Given the description of an element on the screen output the (x, y) to click on. 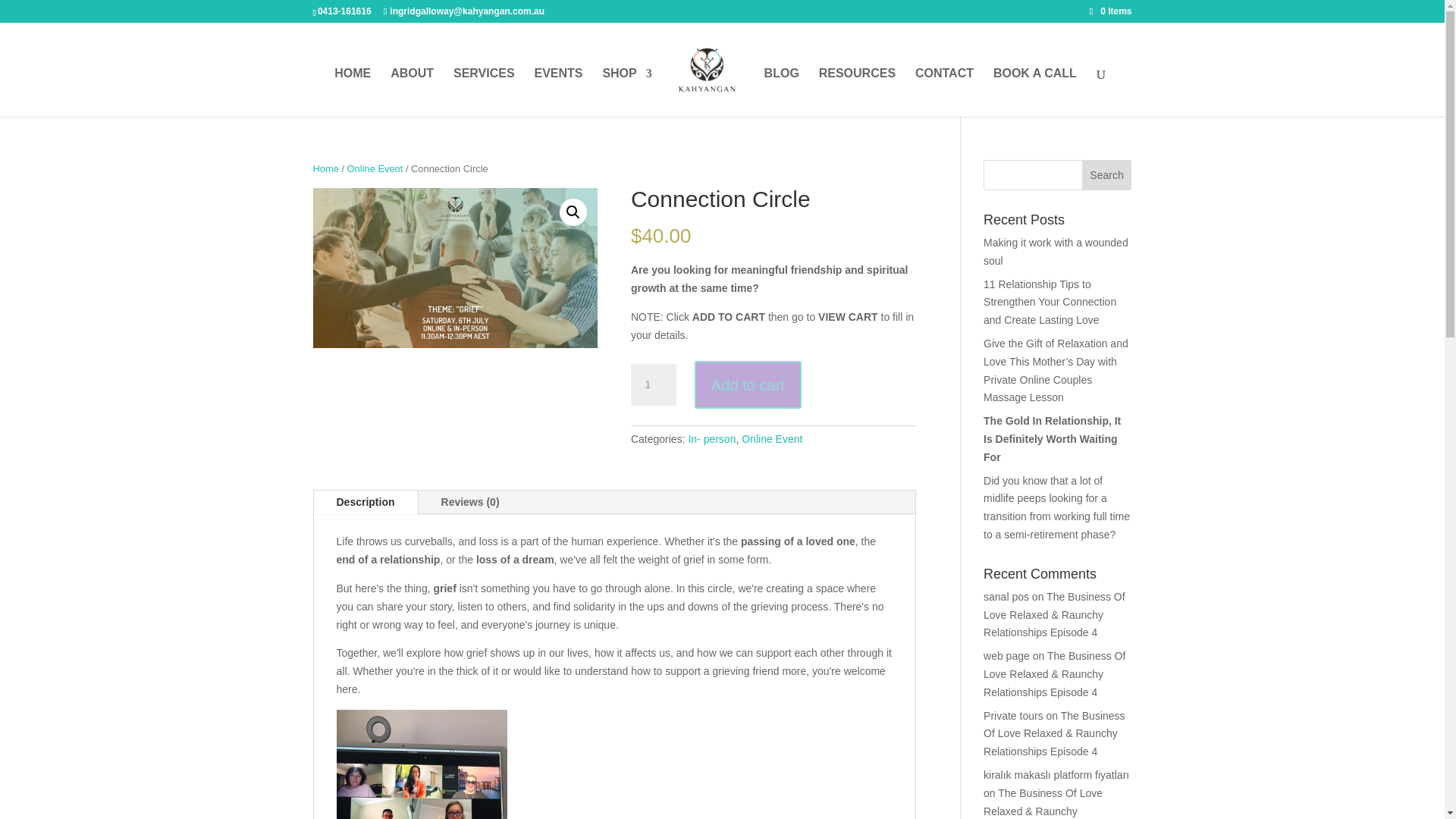
Online Event (375, 168)
GRIEF (454, 268)
Online Event (771, 439)
Add to cart (748, 384)
CONTACT (944, 92)
ABOUT (411, 92)
SERVICES (483, 92)
BOOK A CALL (1034, 92)
In- person (711, 439)
Search (1106, 174)
0 Items (1110, 10)
Description (365, 502)
SHOP (626, 92)
EVENTS (558, 92)
1 (653, 384)
